Given the description of an element on the screen output the (x, y) to click on. 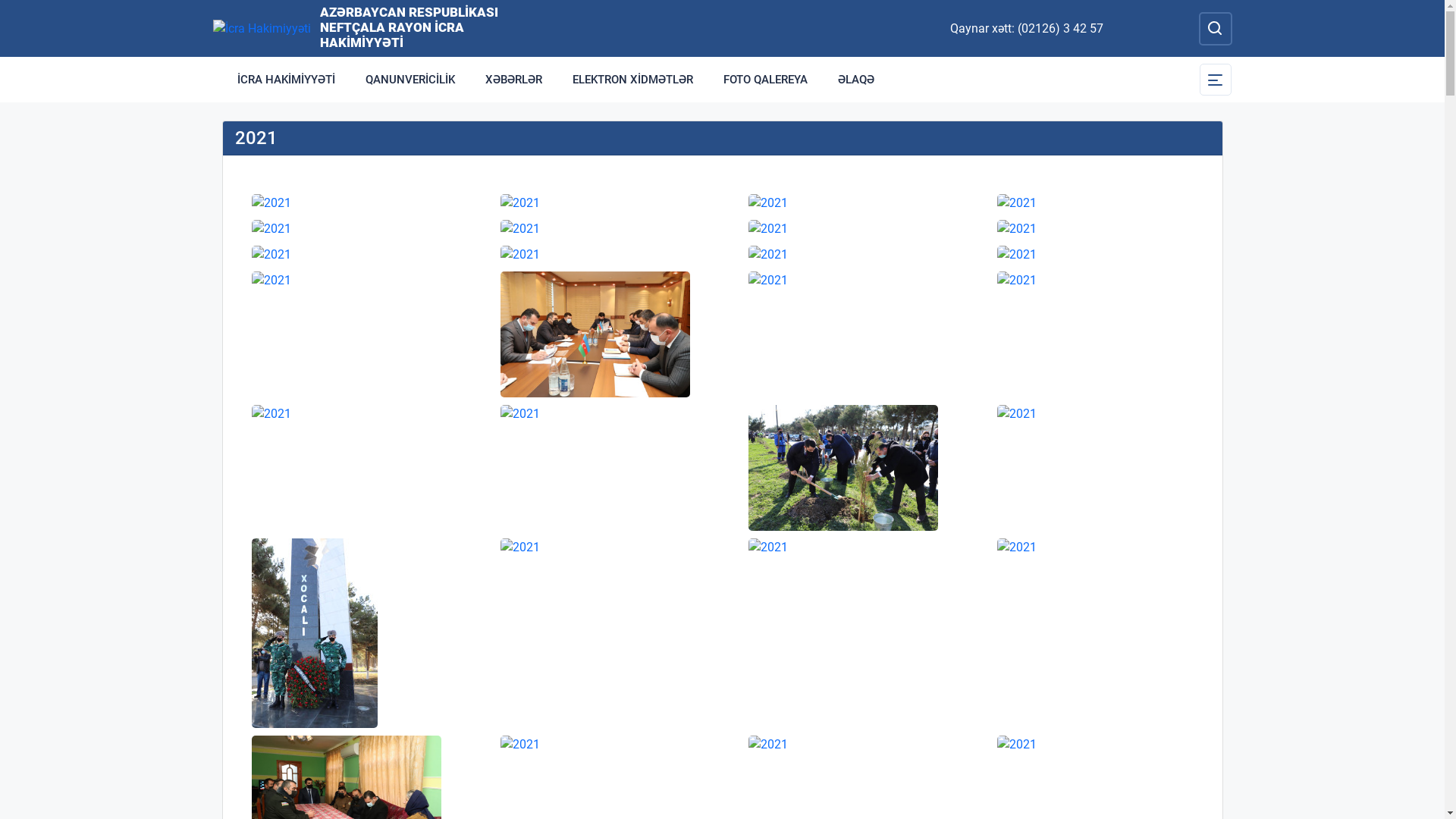
QANUNVERICILIK Element type: text (410, 79)
FOTO QALEREYA Element type: text (765, 79)
